Given the description of an element on the screen output the (x, y) to click on. 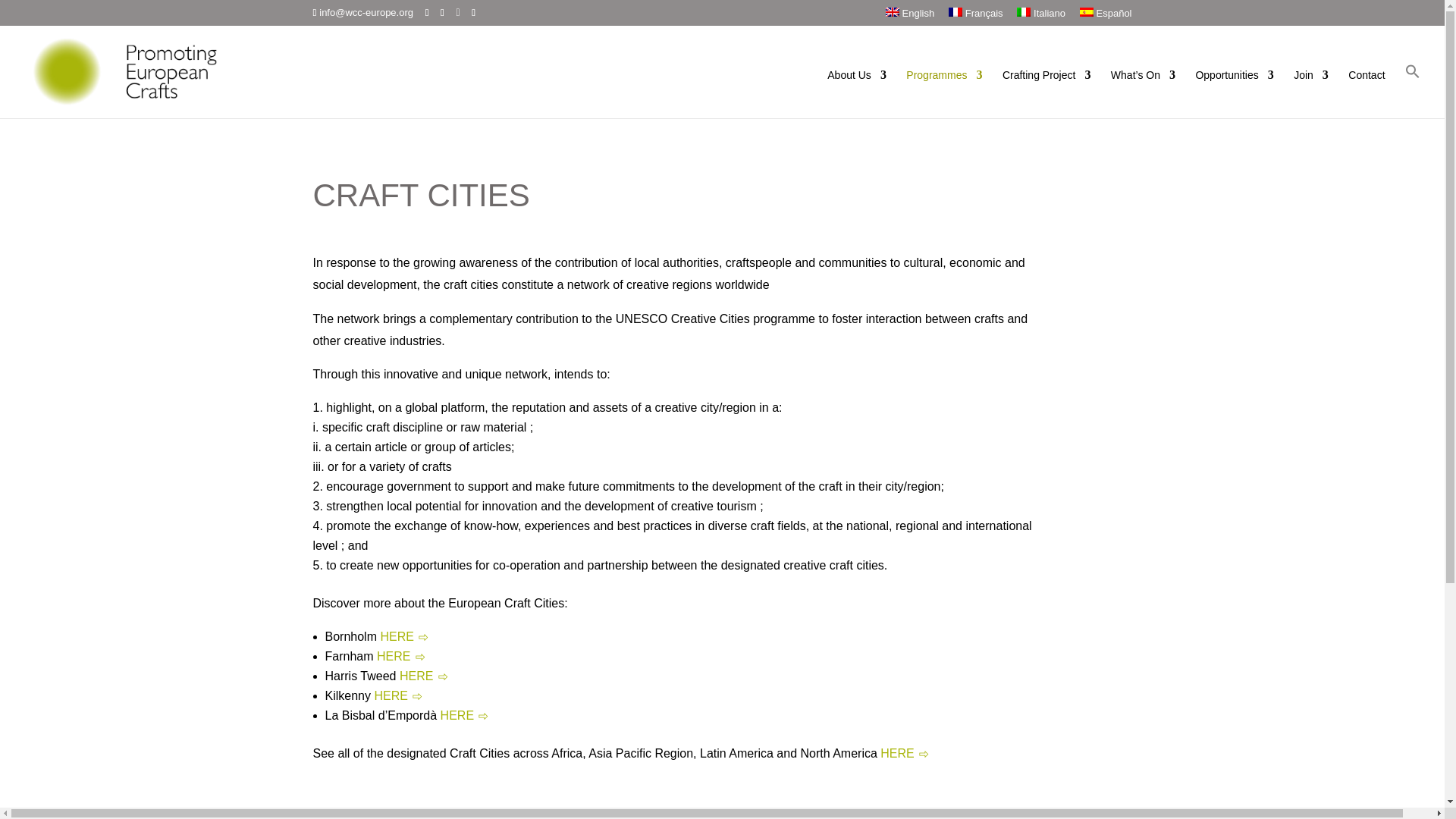
About Us (856, 93)
English (909, 16)
Italiano (1040, 16)
Programmes (943, 93)
Crafting Project (1046, 93)
Italiano (1040, 16)
English (909, 16)
